Given the description of an element on the screen output the (x, y) to click on. 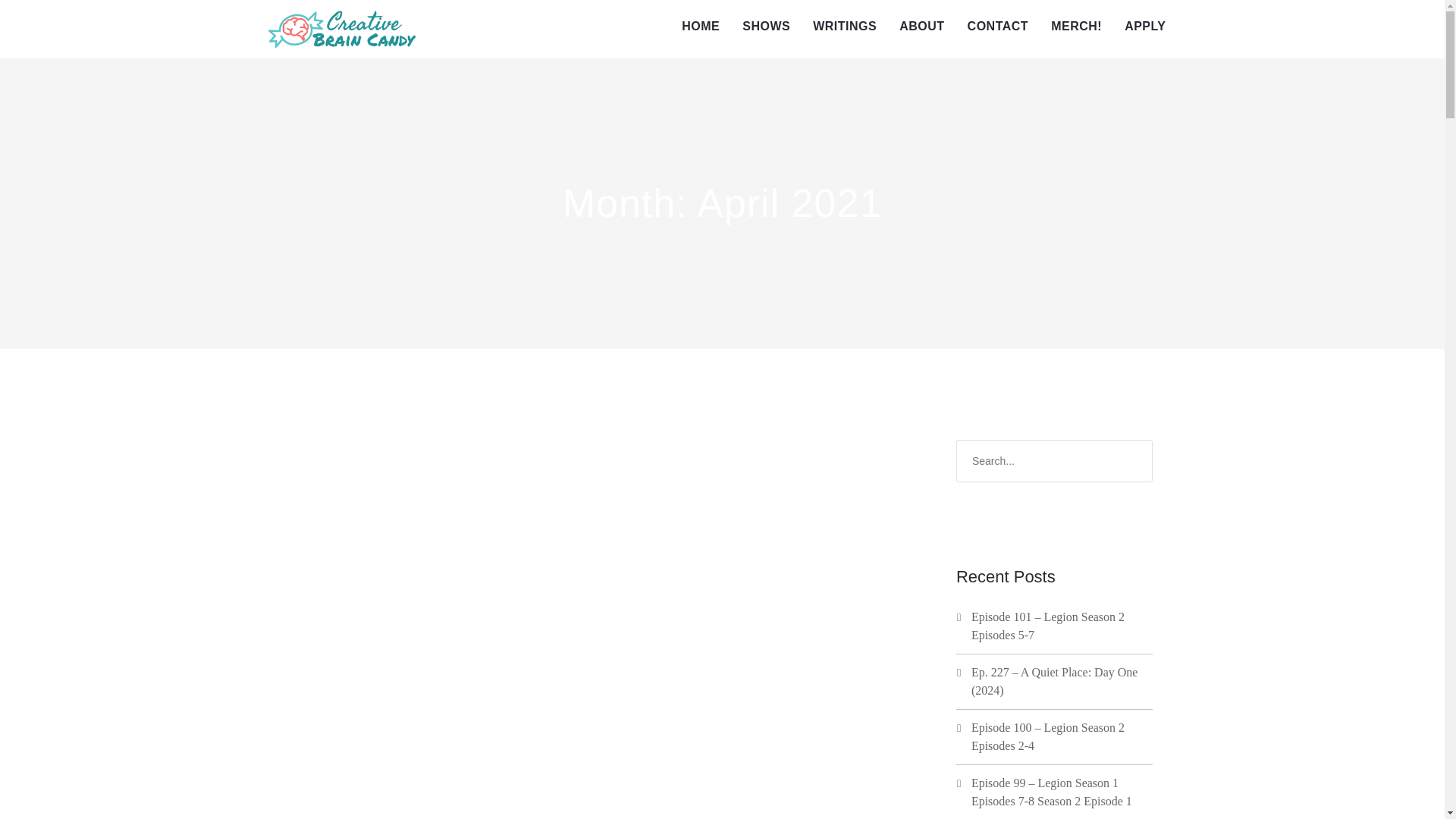
MERCH! (1076, 26)
HOME (699, 26)
CONTACT (998, 26)
SHOWS (766, 26)
WRITINGS (845, 26)
ABOUT (921, 26)
APPLY (1144, 26)
Creative Brain Candy (342, 29)
